Given the description of an element on the screen output the (x, y) to click on. 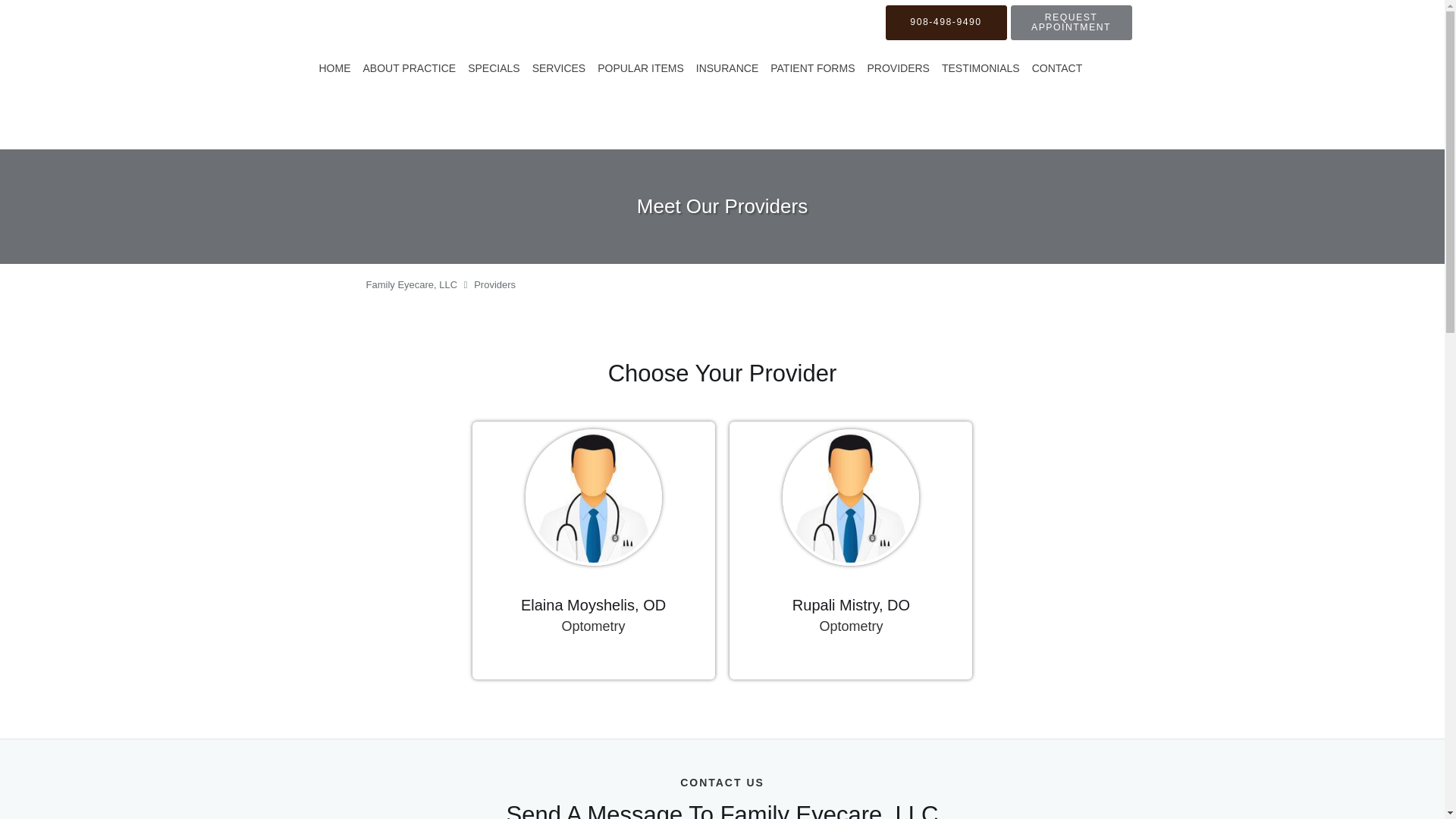
Providers (494, 284)
PROVIDERS (897, 67)
TESTIMONIALS (981, 67)
HOME (334, 67)
PATIENT FORMS (812, 67)
SERVICES (592, 540)
ABOUT PRACTICE (558, 67)
POPULAR ITEMS (408, 67)
908-498-9490 (640, 67)
REQUEST APPOINTMENT (850, 540)
SPECIALS (946, 22)
INSURANCE (1070, 22)
Family Eyecare, LLC (493, 67)
